Given the description of an element on the screen output the (x, y) to click on. 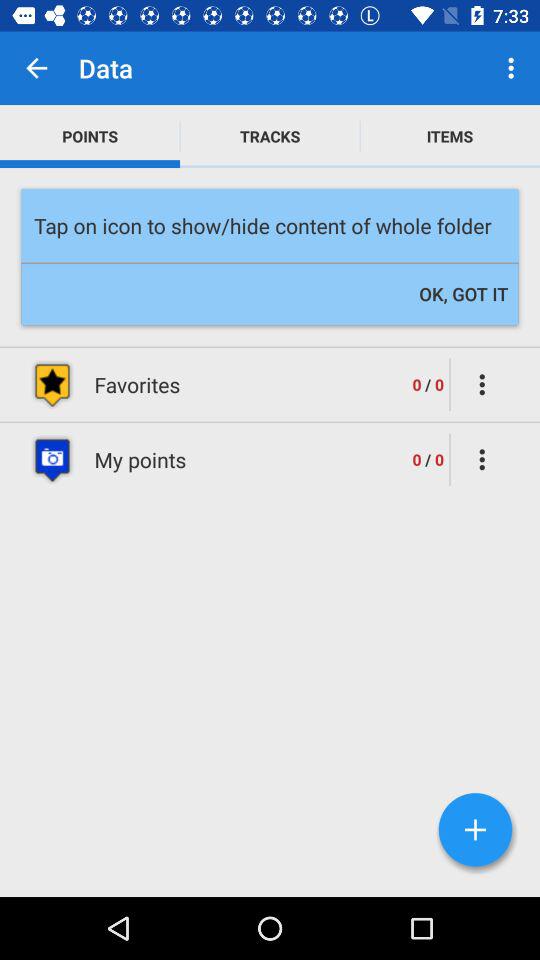
select item above points item (36, 68)
